Given the description of an element on the screen output the (x, y) to click on. 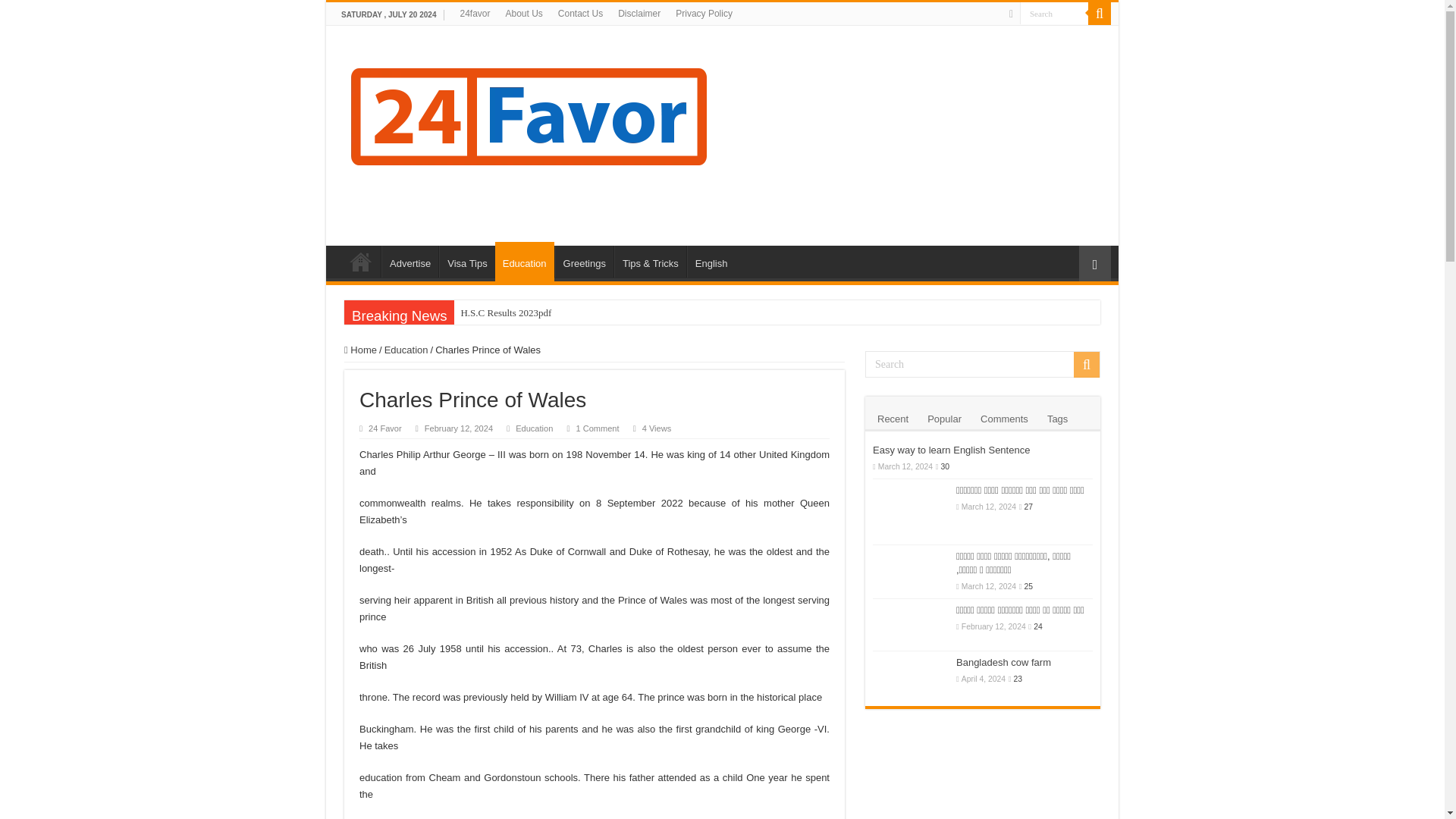
English (711, 261)
Privacy Policy (703, 13)
Home (360, 349)
About Us (523, 13)
Random Article (1094, 263)
24 Favor (384, 428)
Greetings (583, 261)
Search (1053, 13)
24favor (474, 13)
1 Comment (596, 428)
24 Favor (527, 110)
Contact Us (580, 13)
Search (1053, 13)
Advertise (409, 261)
Education (524, 261)
